Given the description of an element on the screen output the (x, y) to click on. 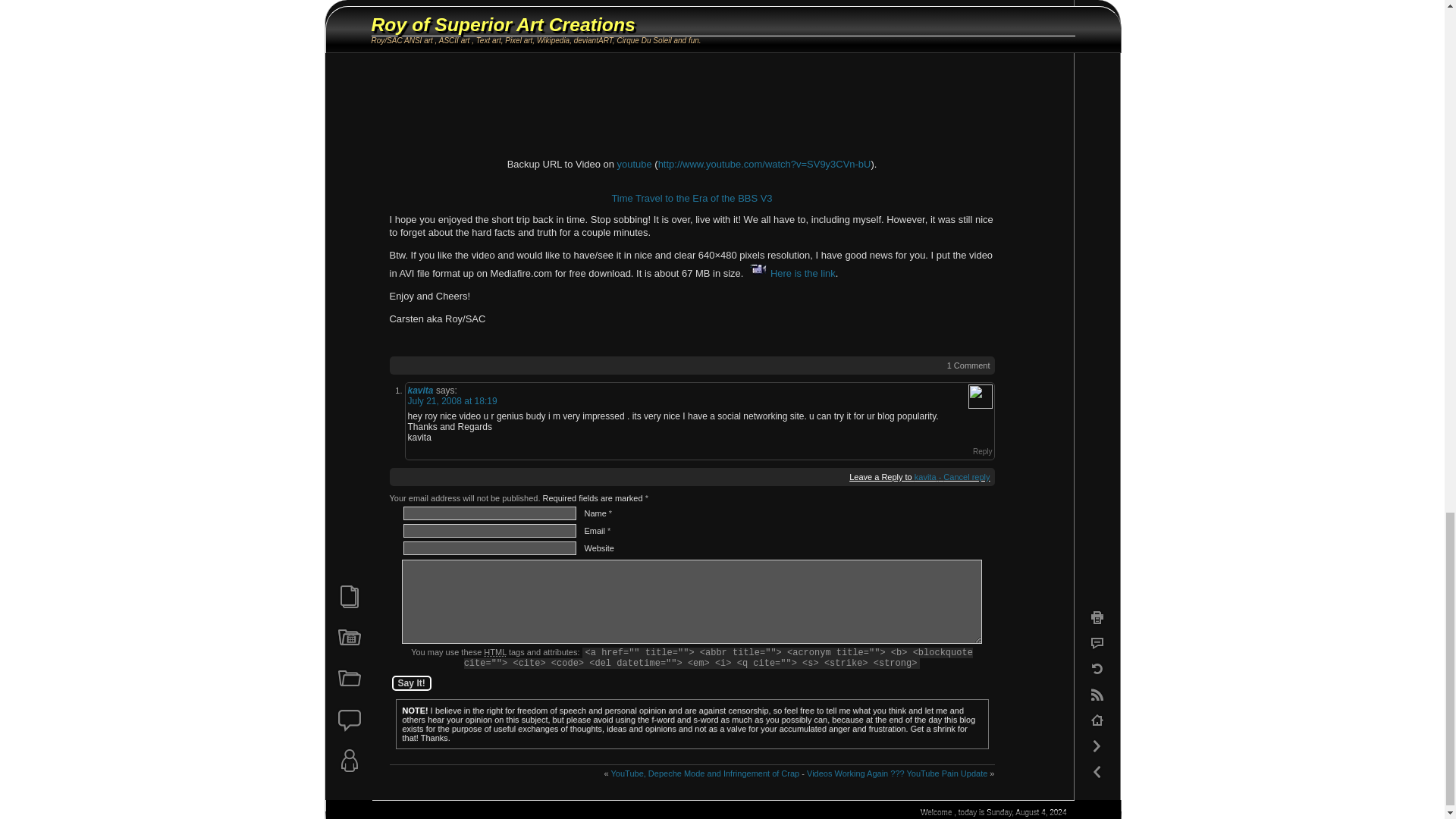
kavita (420, 389)
Here is the link (790, 273)
youtube (634, 163)
Time Travel to the Era of the BBS V3 (691, 197)
Videos Working Again ??? YouTube Pain Update (896, 773)
July 21, 2008 at 18:19 (452, 400)
Say It! (410, 683)
Cancel reply (964, 476)
Say It! (410, 683)
kavita (925, 476)
YouTube, Depeche Mode and Infringement of Crap (705, 773)
Reply (973, 451)
HyperText Markup Language (494, 651)
